Given the description of an element on the screen output the (x, y) to click on. 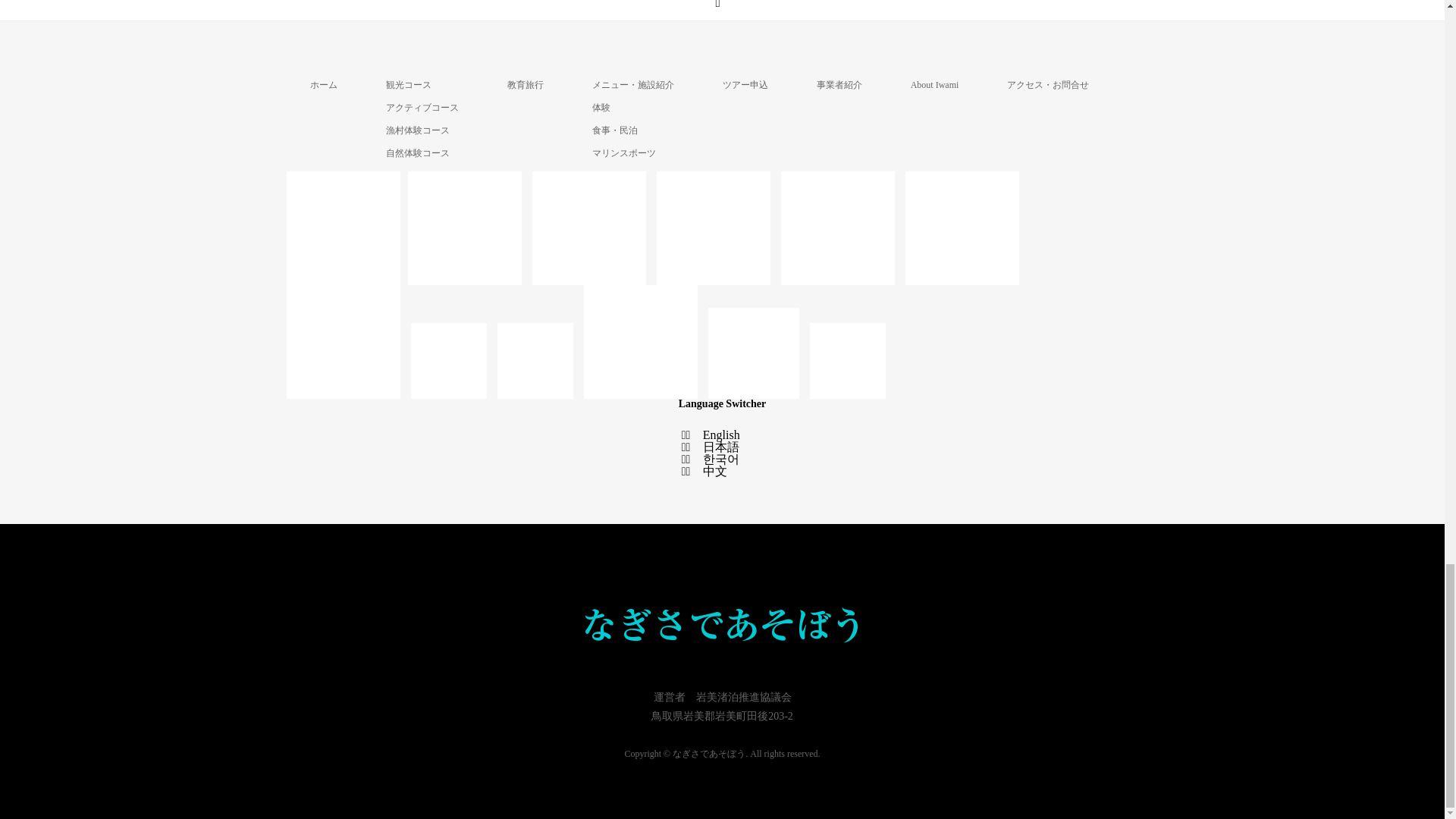
Japanese (721, 446)
English (721, 434)
Korean (721, 459)
About Iwami (935, 84)
Chinese (714, 471)
